Given the description of an element on the screen output the (x, y) to click on. 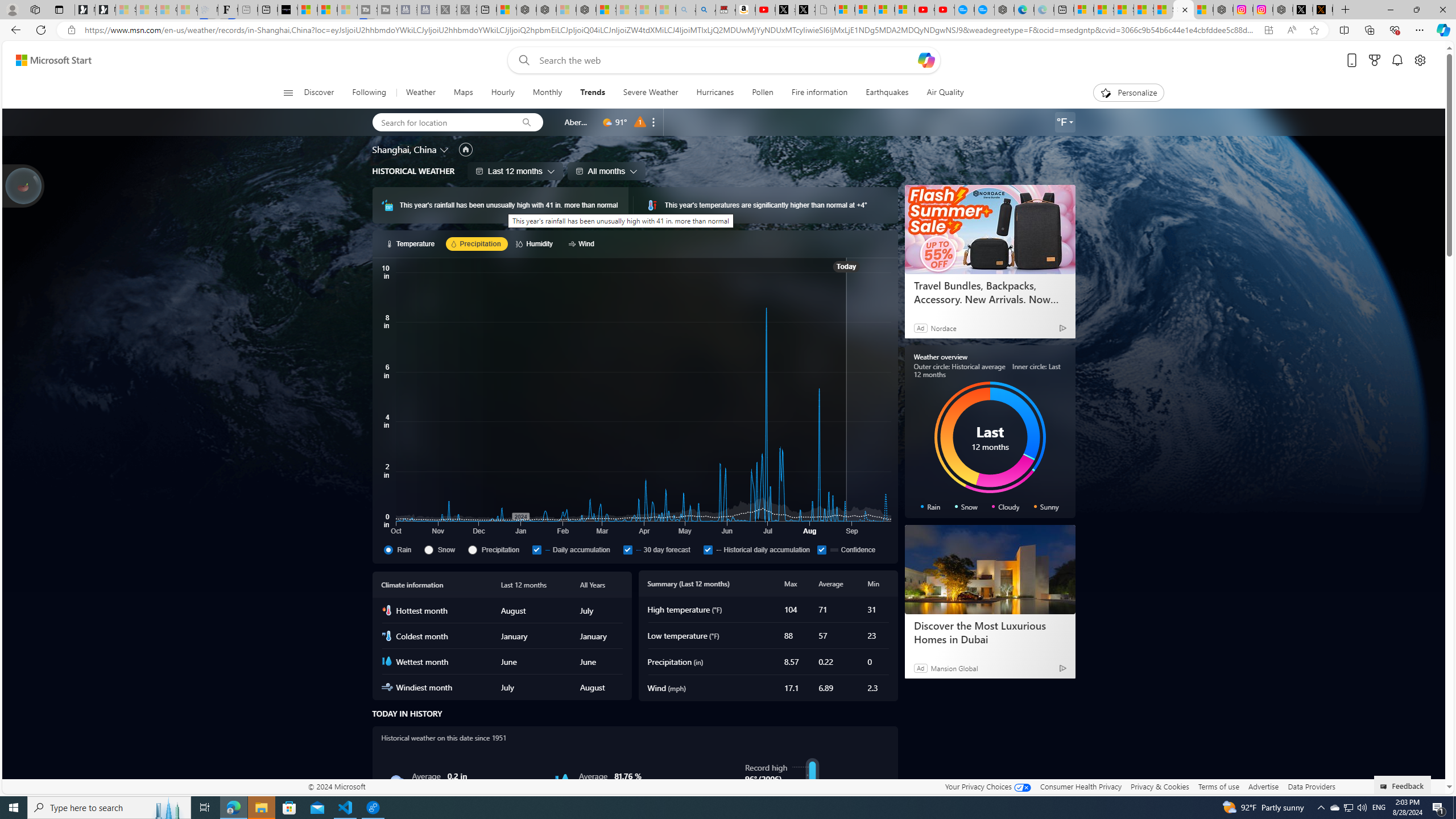
Rain (396, 781)
Shanghai, China hourly forecast | Microsoft Weather (1123, 9)
Hourly (502, 92)
Class: feedback_link_icon-DS-EntryPoint1-1 (1384, 786)
Snow (428, 549)
Enter your search term (726, 59)
Nordace - Nordace Siena Is Not An Ordinary Backpack (586, 9)
Remove location (653, 122)
Maps (462, 92)
Hurricanes (714, 92)
